Given the description of an element on the screen output the (x, y) to click on. 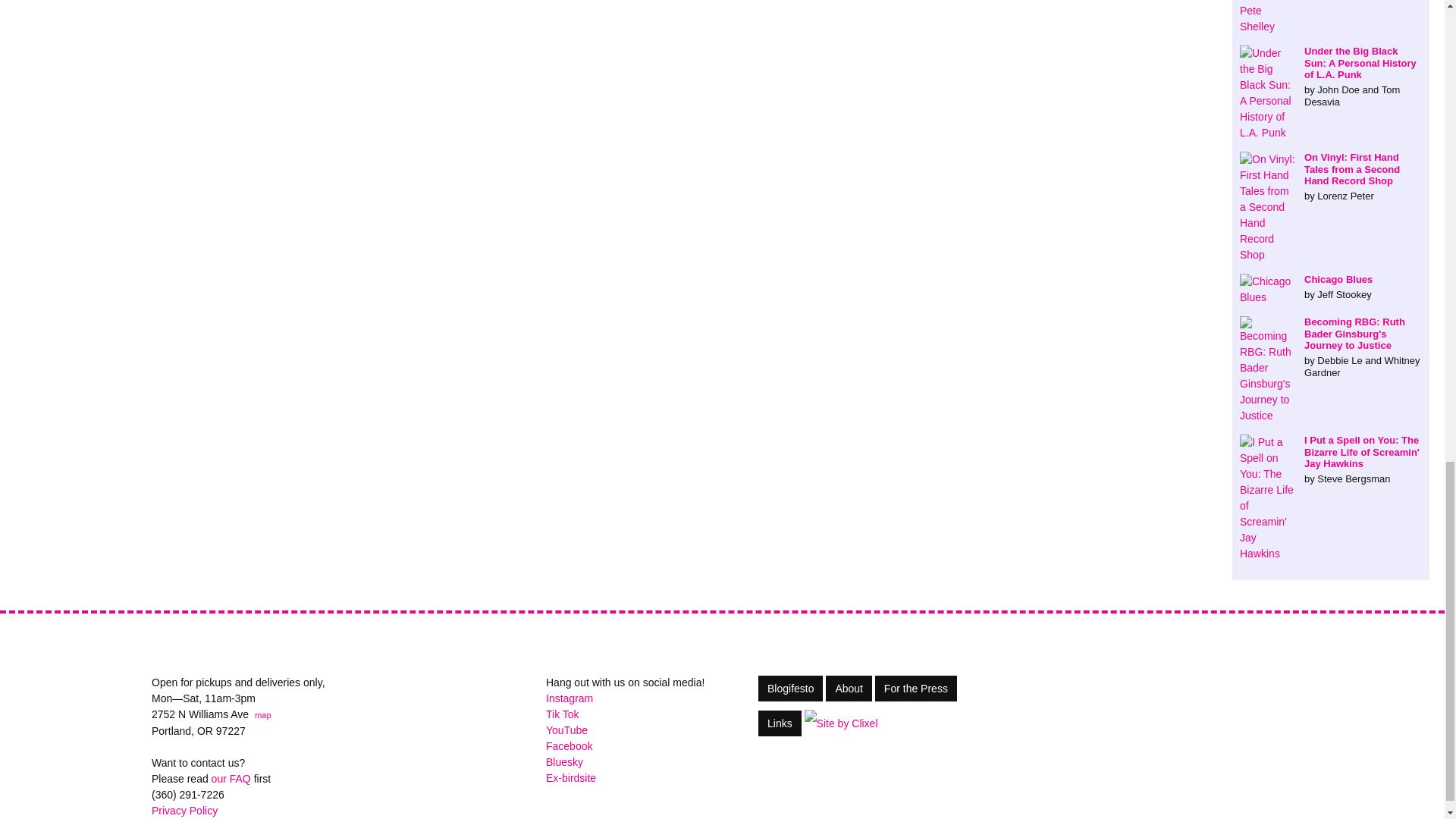
Under the Big Black Sun: A Personal History of L.A. Punk (1331, 76)
Chicago Blues (1331, 286)
Becoming RBG: Ruth Bader Ginsburg's Journey to Justice (1331, 347)
On Vinyl: First Hand Tales from a Second Hand Record Shop (1331, 176)
